Given the description of an element on the screen output the (x, y) to click on. 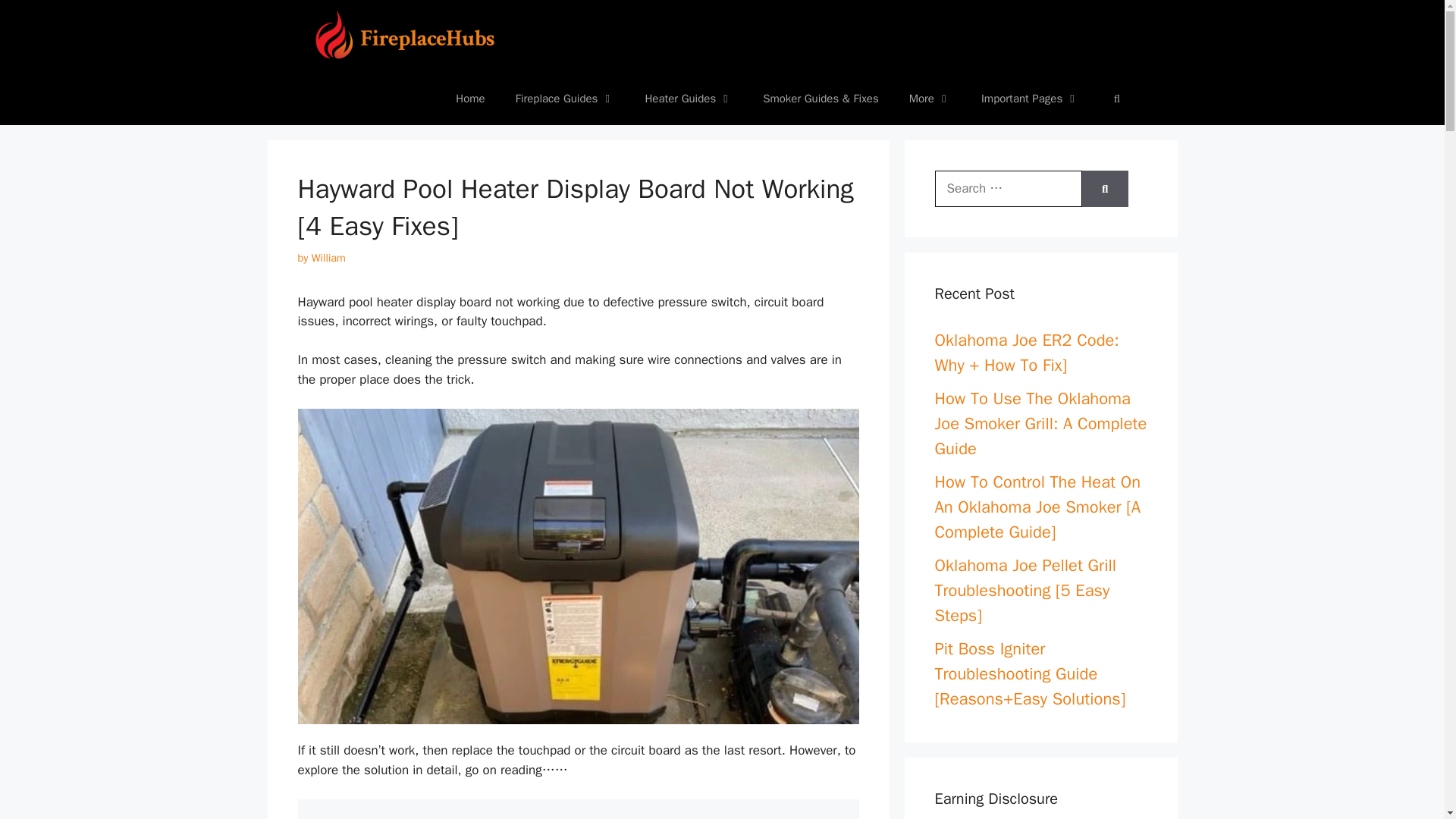
Fireplace Guides (565, 98)
Important Pages (1030, 98)
Heater Guides (688, 98)
William (328, 257)
Search for: (1007, 188)
Home (470, 98)
More (929, 98)
View all posts by William (328, 257)
FireplaceHubs (410, 36)
